Given the description of an element on the screen output the (x, y) to click on. 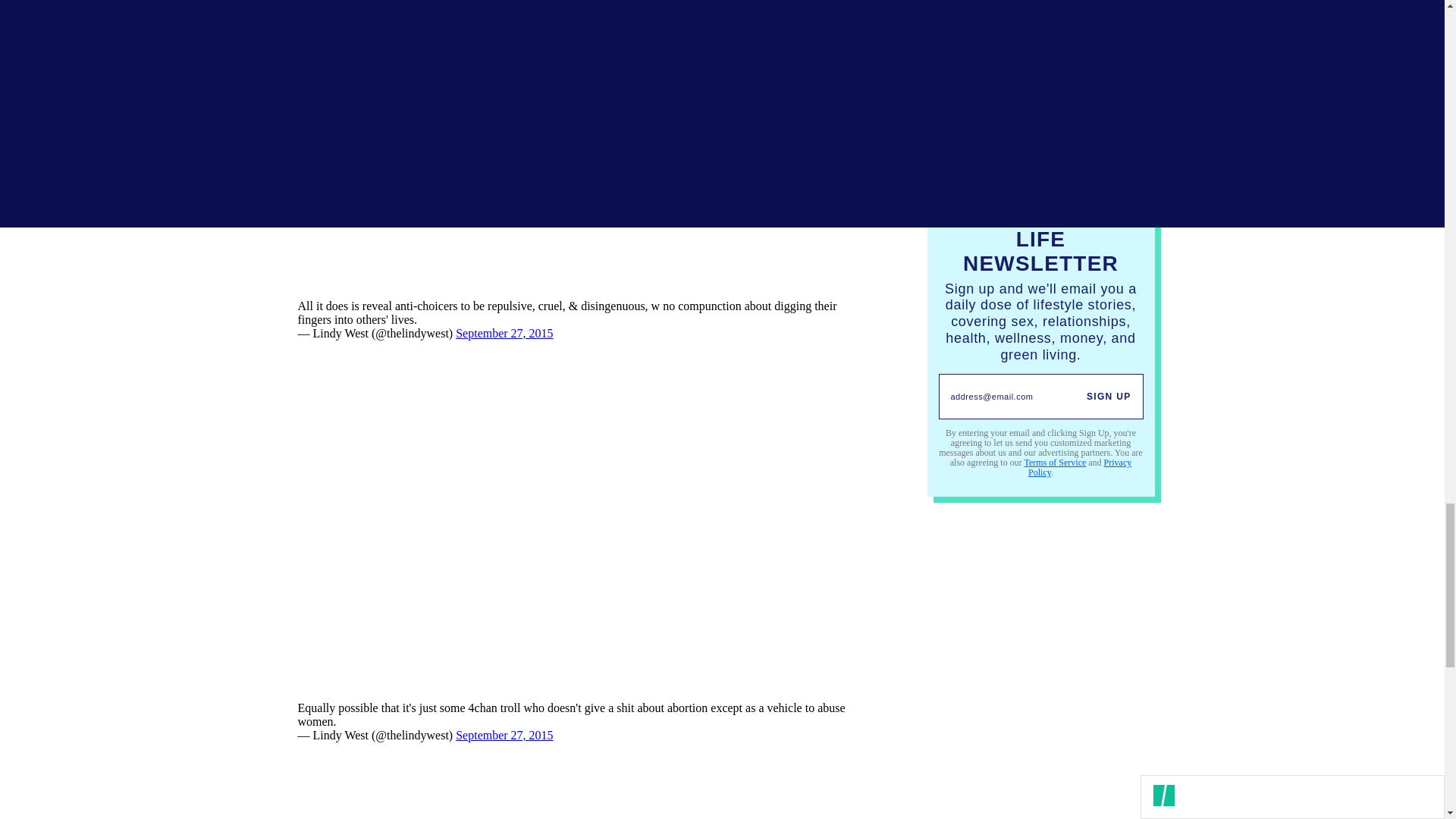
SIGN UP (1108, 396)
